Given the description of an element on the screen output the (x, y) to click on. 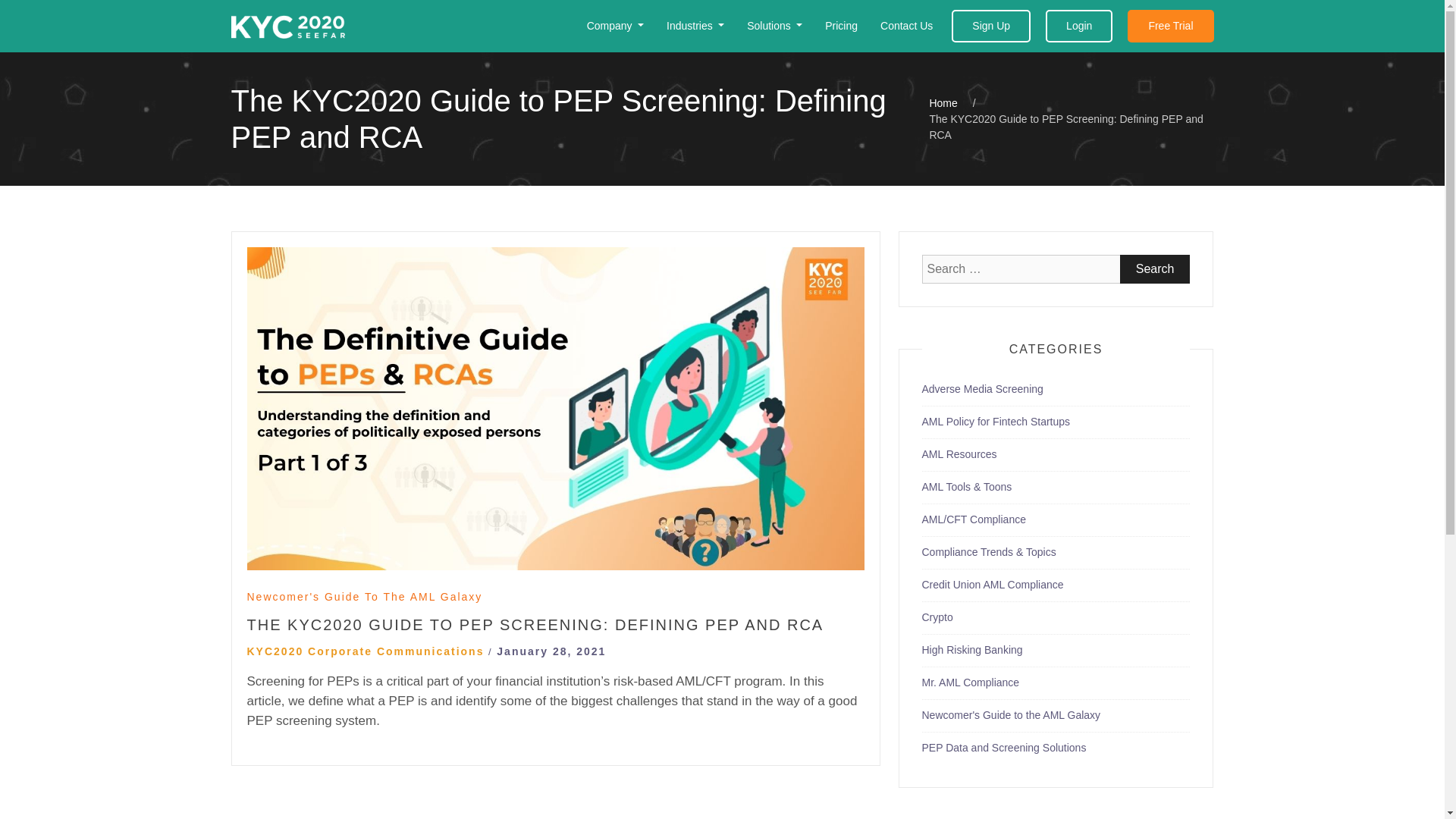
Company (615, 26)
Search (1155, 268)
kyc-2020 (286, 26)
Industries (695, 26)
Search (1155, 268)
